Given the description of an element on the screen output the (x, y) to click on. 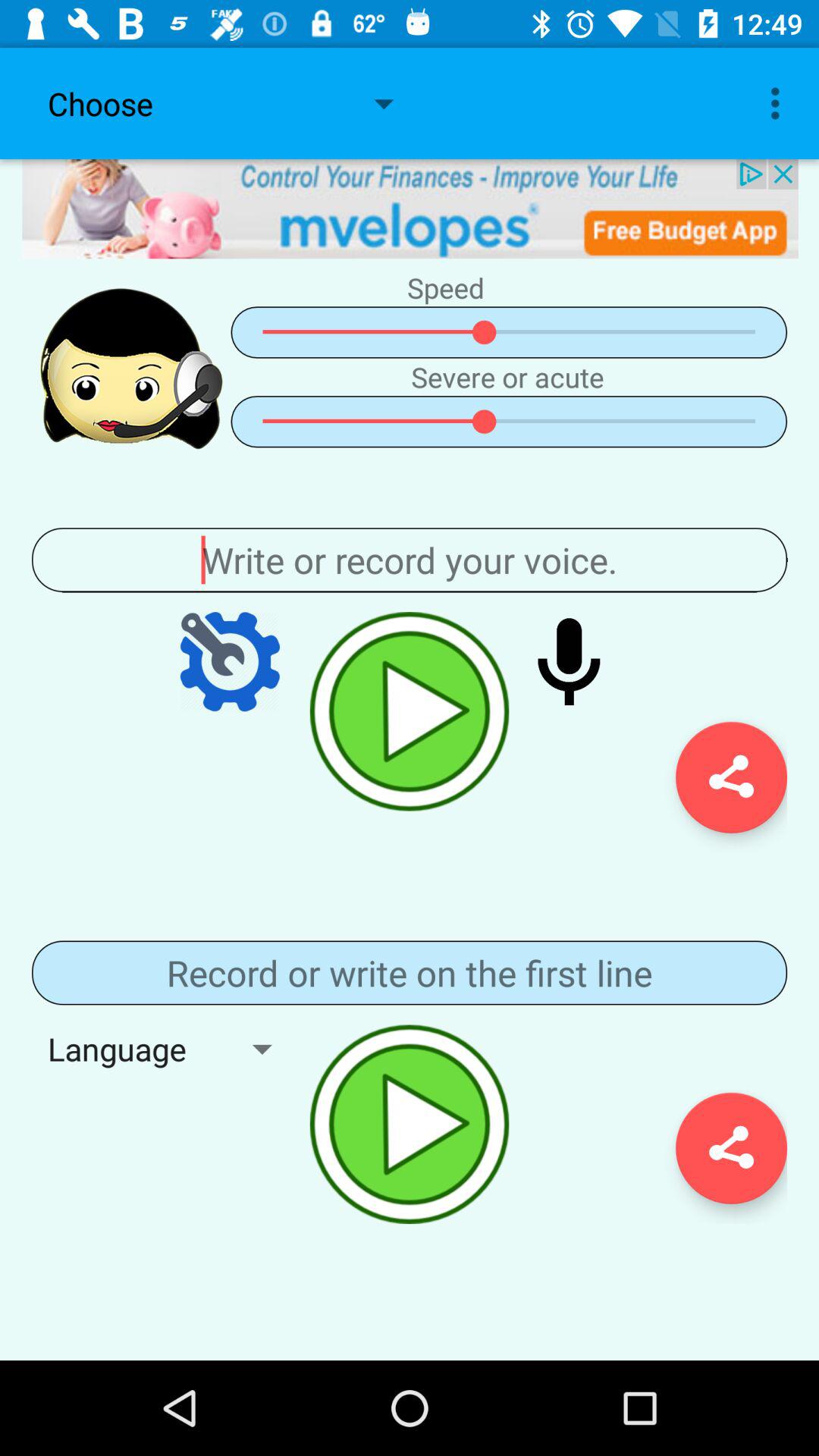
voice message (568, 661)
